Given the description of an element on the screen output the (x, y) to click on. 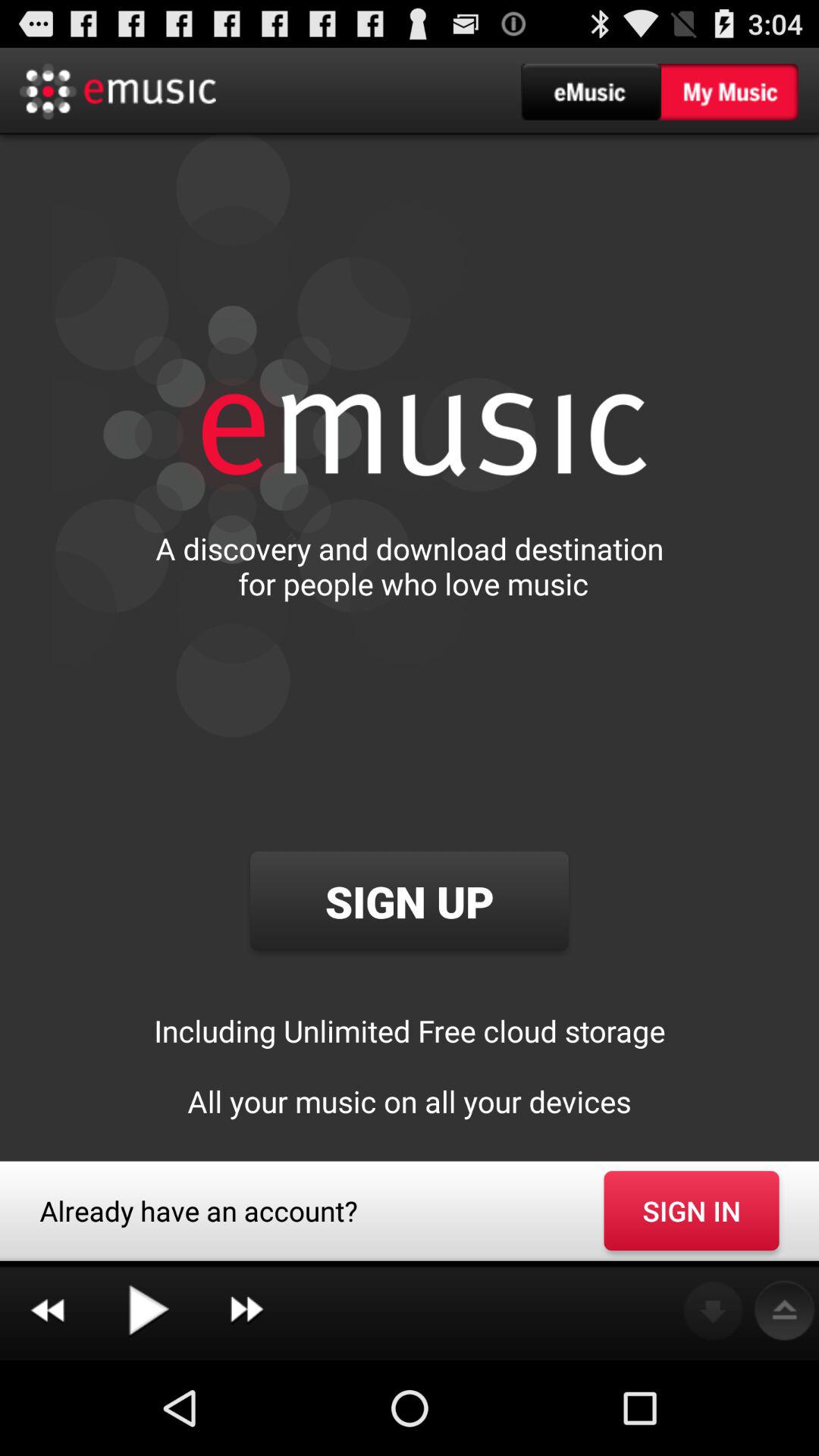
press the icon next to sign in button (246, 1311)
